Given the description of an element on the screen output the (x, y) to click on. 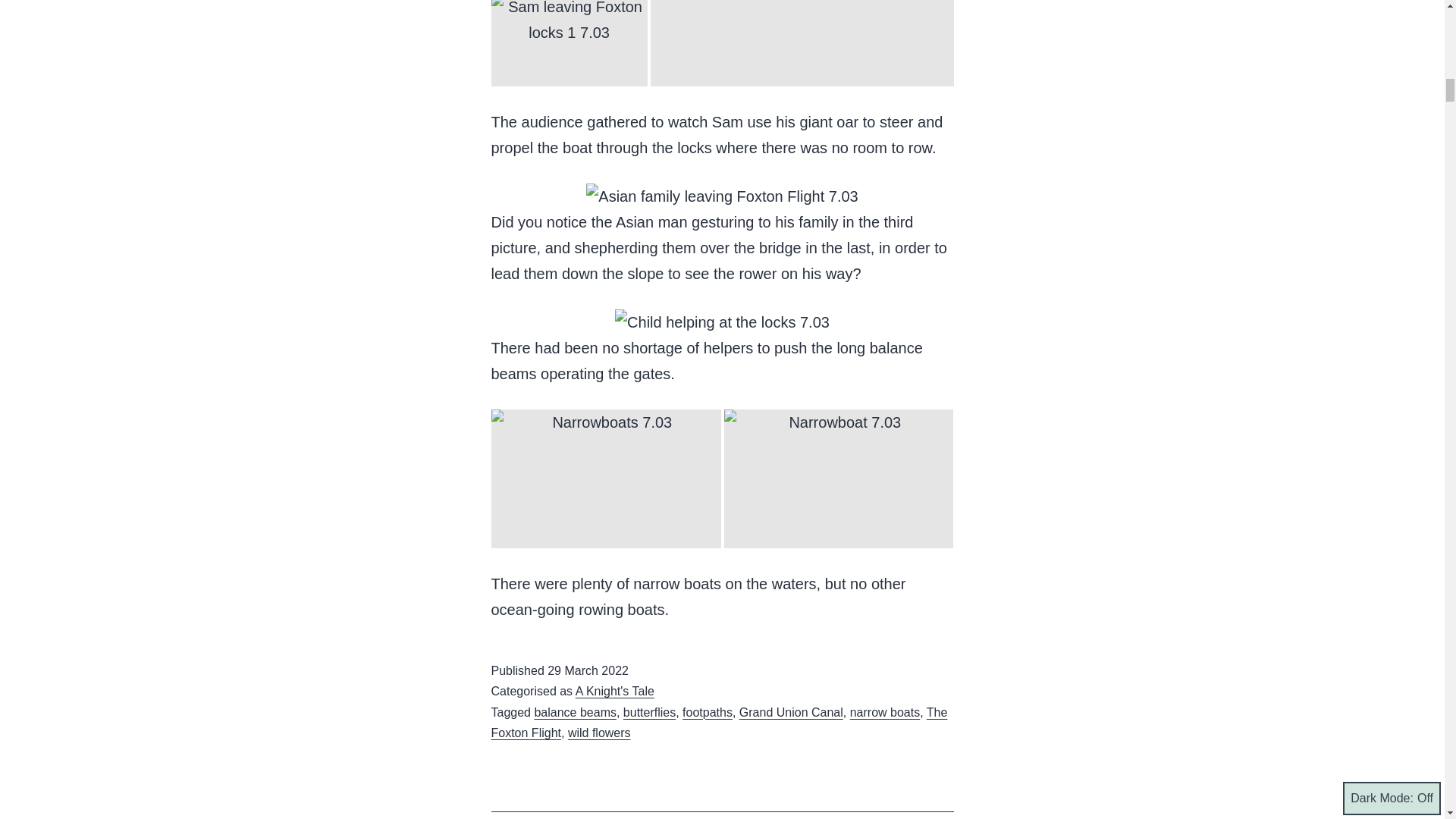
A Knight's Tale (614, 690)
footpaths (707, 712)
The Foxton Flight (719, 722)
butterflies (649, 712)
narrow boats (885, 712)
balance beams (574, 712)
wild flowers (598, 732)
Grand Union Canal (791, 712)
